Given the description of an element on the screen output the (x, y) to click on. 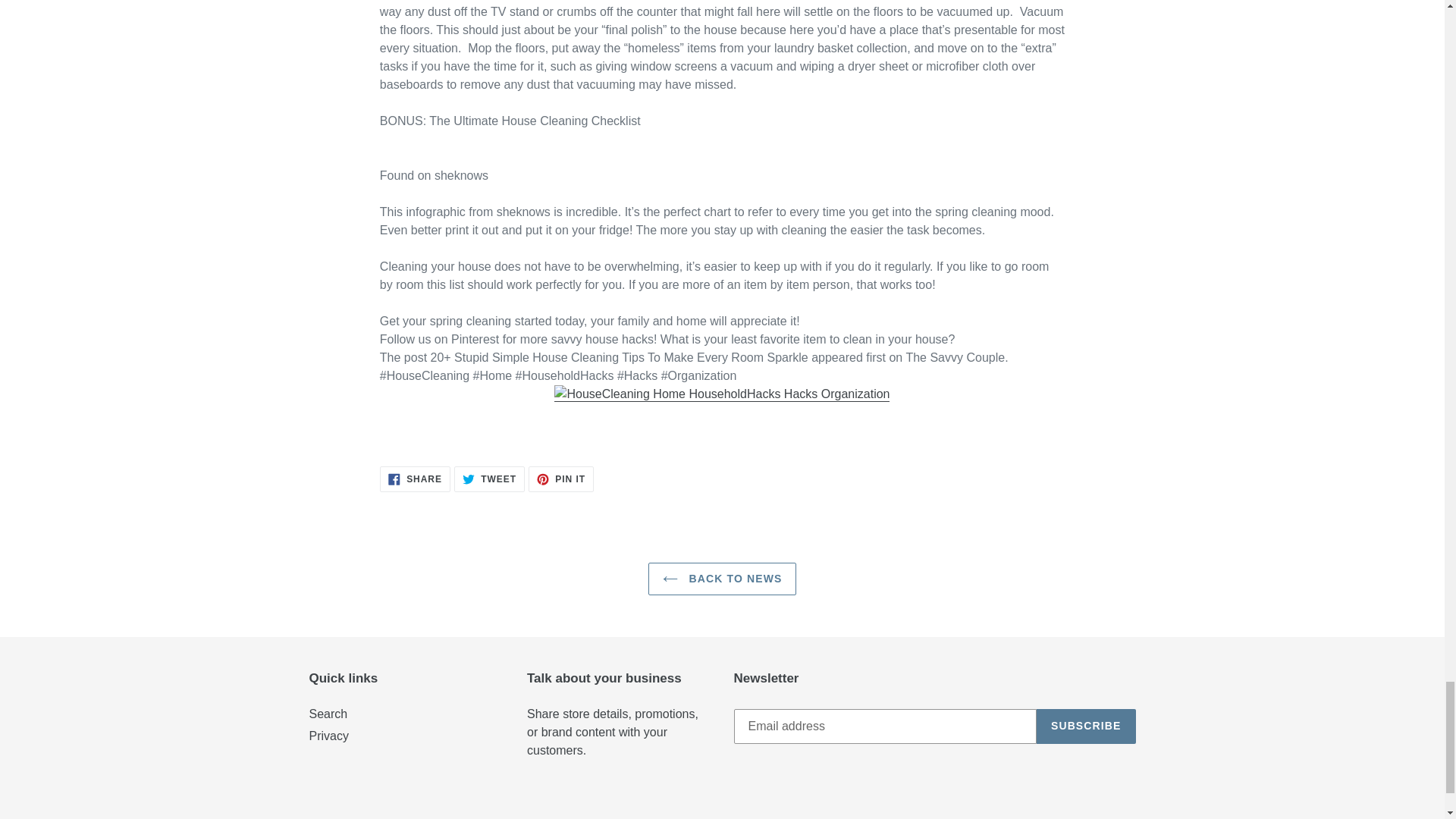
Search (327, 713)
BACK TO NEWS (721, 578)
SUBSCRIBE (1085, 726)
Privacy (489, 479)
